Given the description of an element on the screen output the (x, y) to click on. 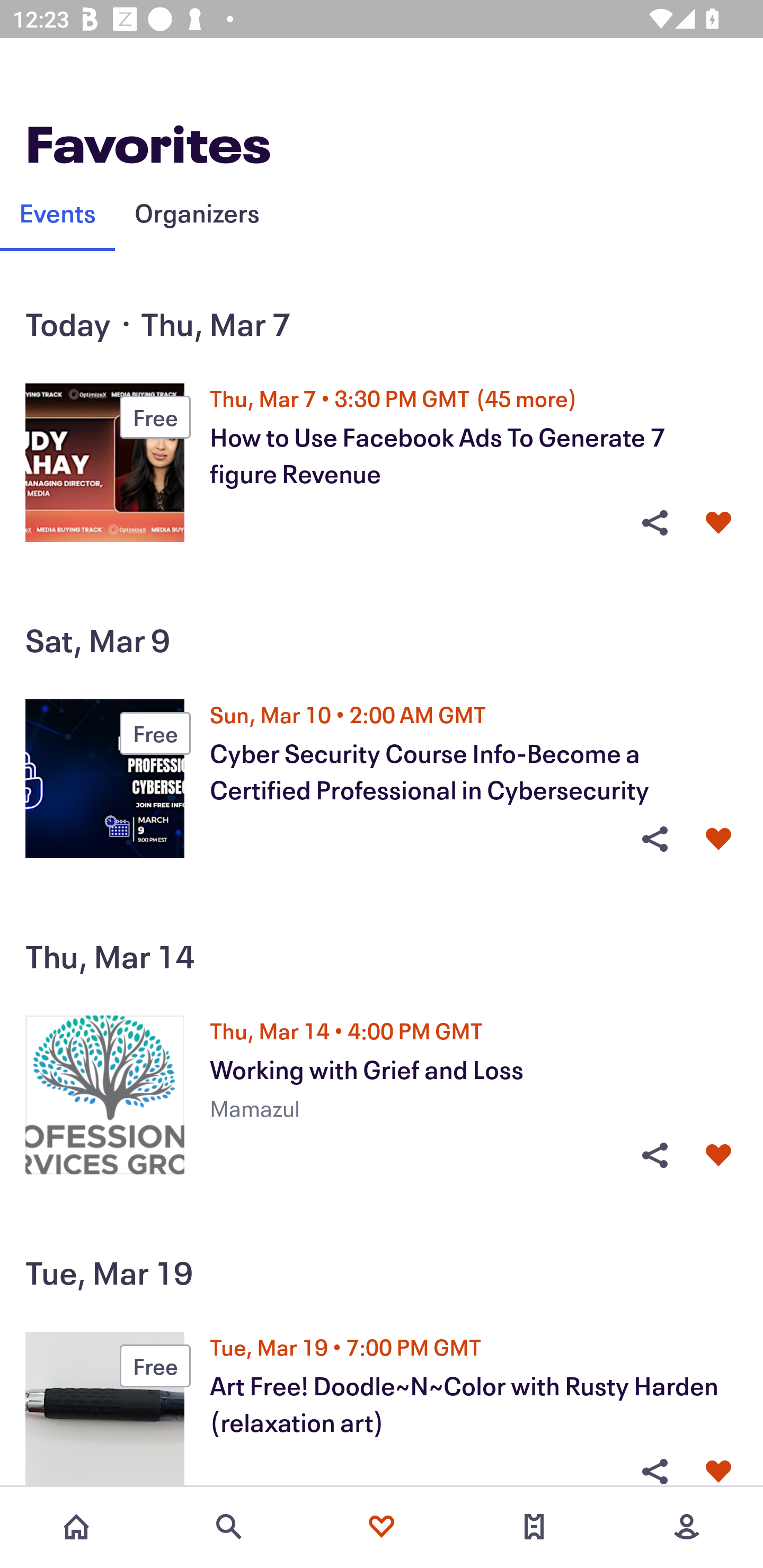
Organizers (196, 212)
Share Event (654, 522)
Unlike event (718, 522)
Share Event (654, 838)
Unlike event (718, 838)
Share Event (654, 1155)
Unlike event (718, 1155)
Share Event (654, 1471)
Unlike event (718, 1471)
Home (76, 1526)
Search events (228, 1526)
Favorites (381, 1526)
Tickets (533, 1526)
More (686, 1526)
